Given the description of an element on the screen output the (x, y) to click on. 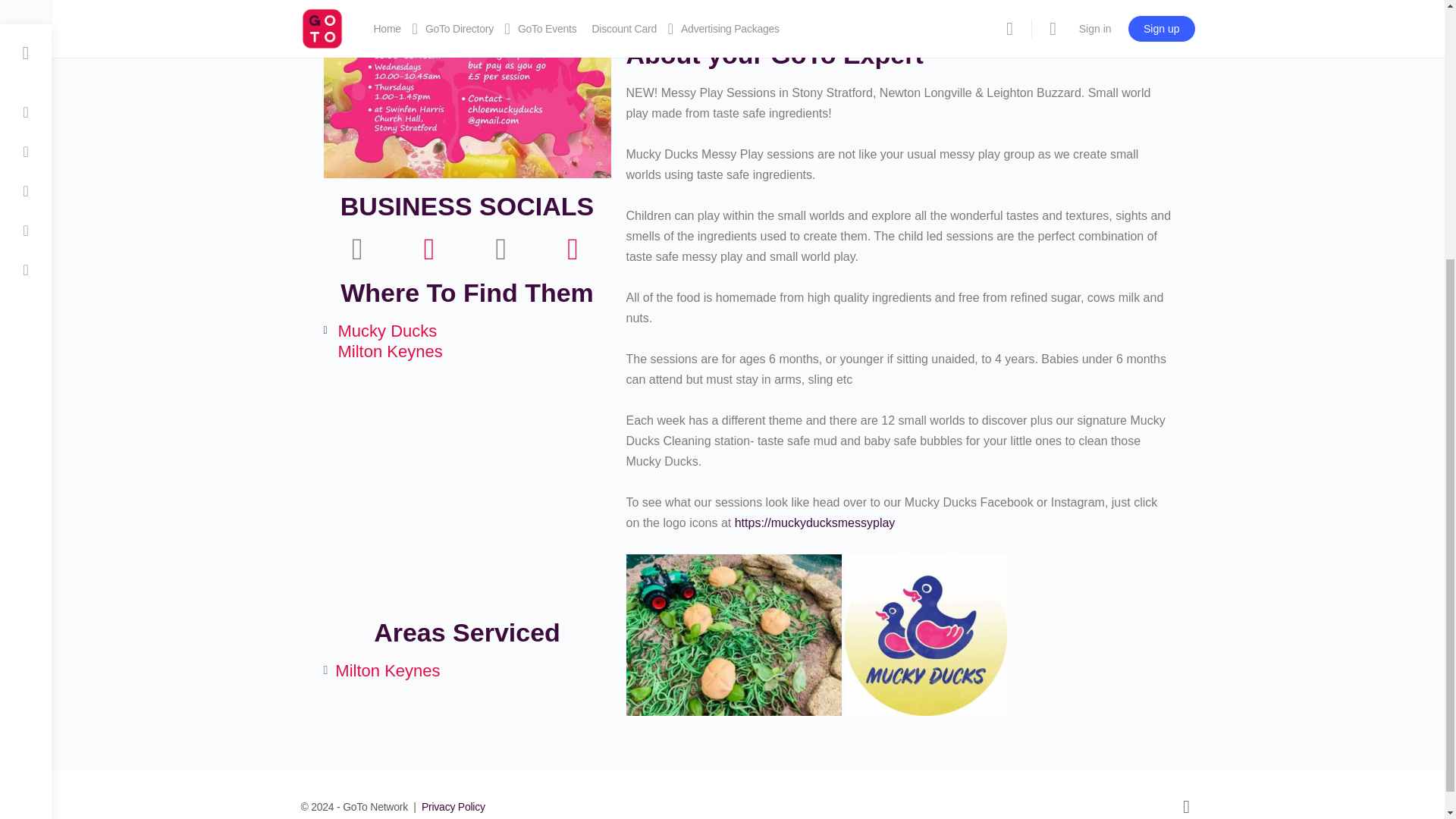
Milton Keynes (466, 490)
